Given the description of an element on the screen output the (x, y) to click on. 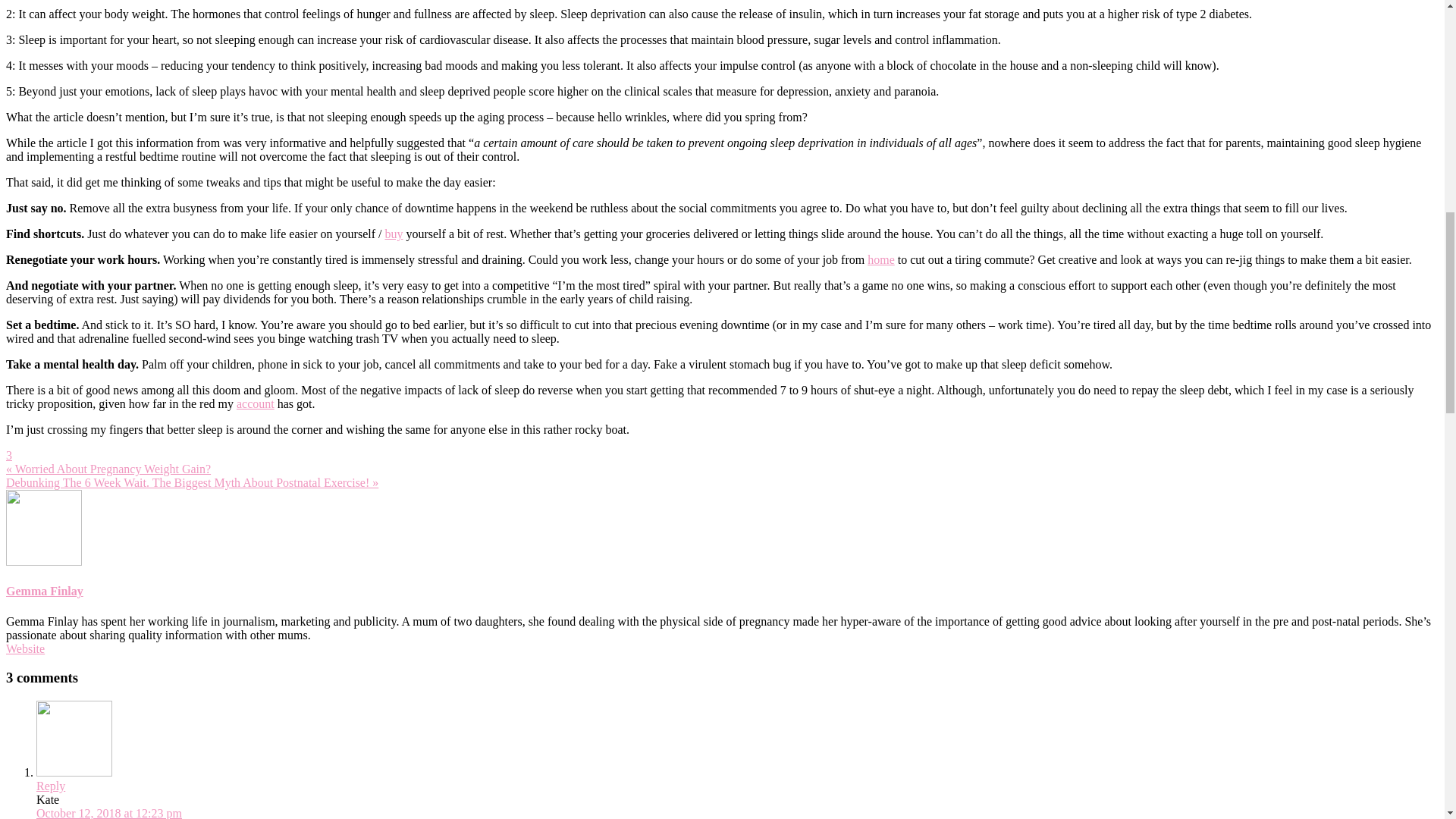
Reply (50, 785)
Gemma Finlay (43, 590)
October 12, 2018 at 12:23 pm (109, 812)
home (881, 259)
buy (393, 233)
Website (25, 648)
account (255, 403)
